Given the description of an element on the screen output the (x, y) to click on. 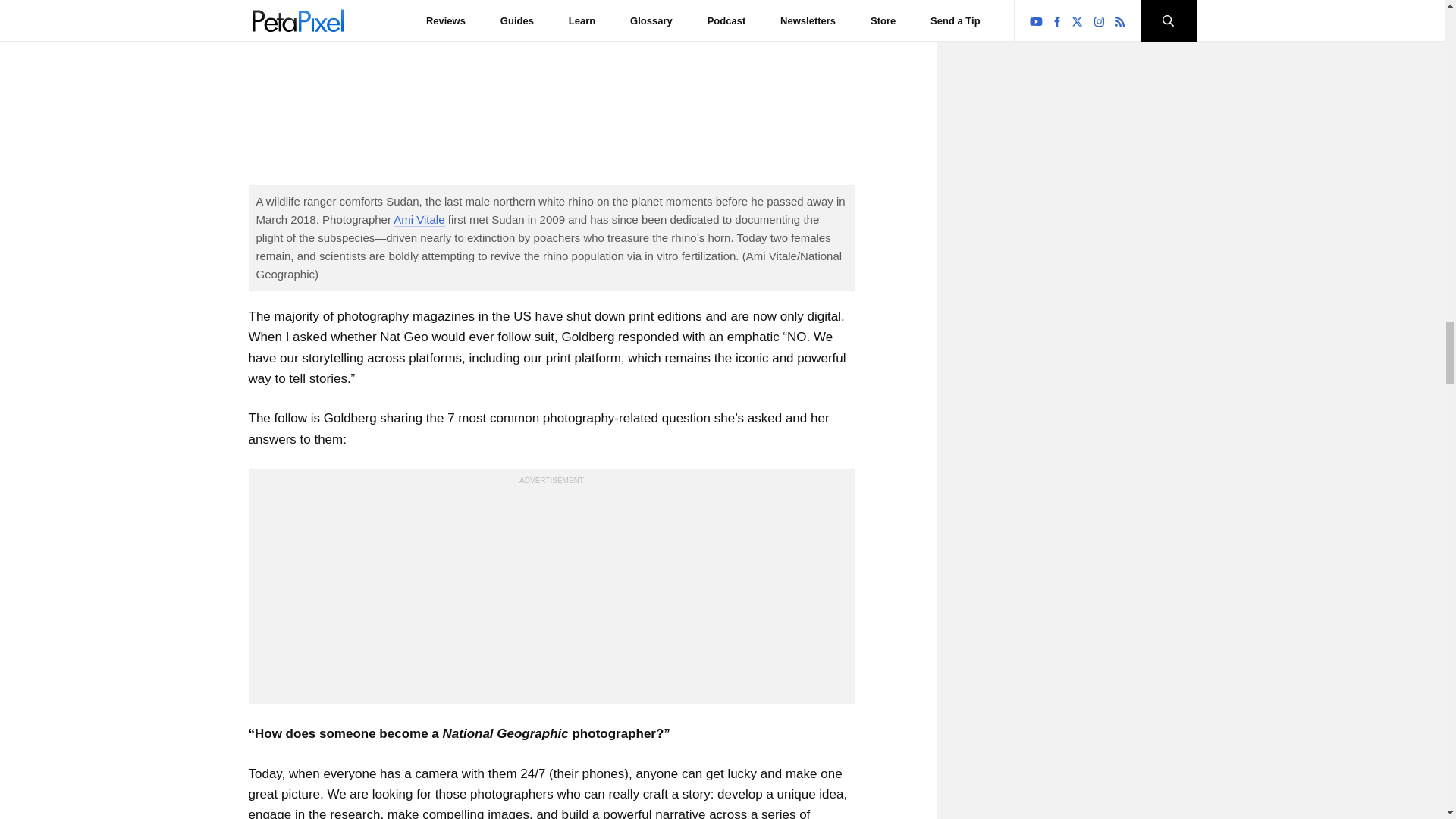
Ami Vitale (418, 219)
